Given the description of an element on the screen output the (x, y) to click on. 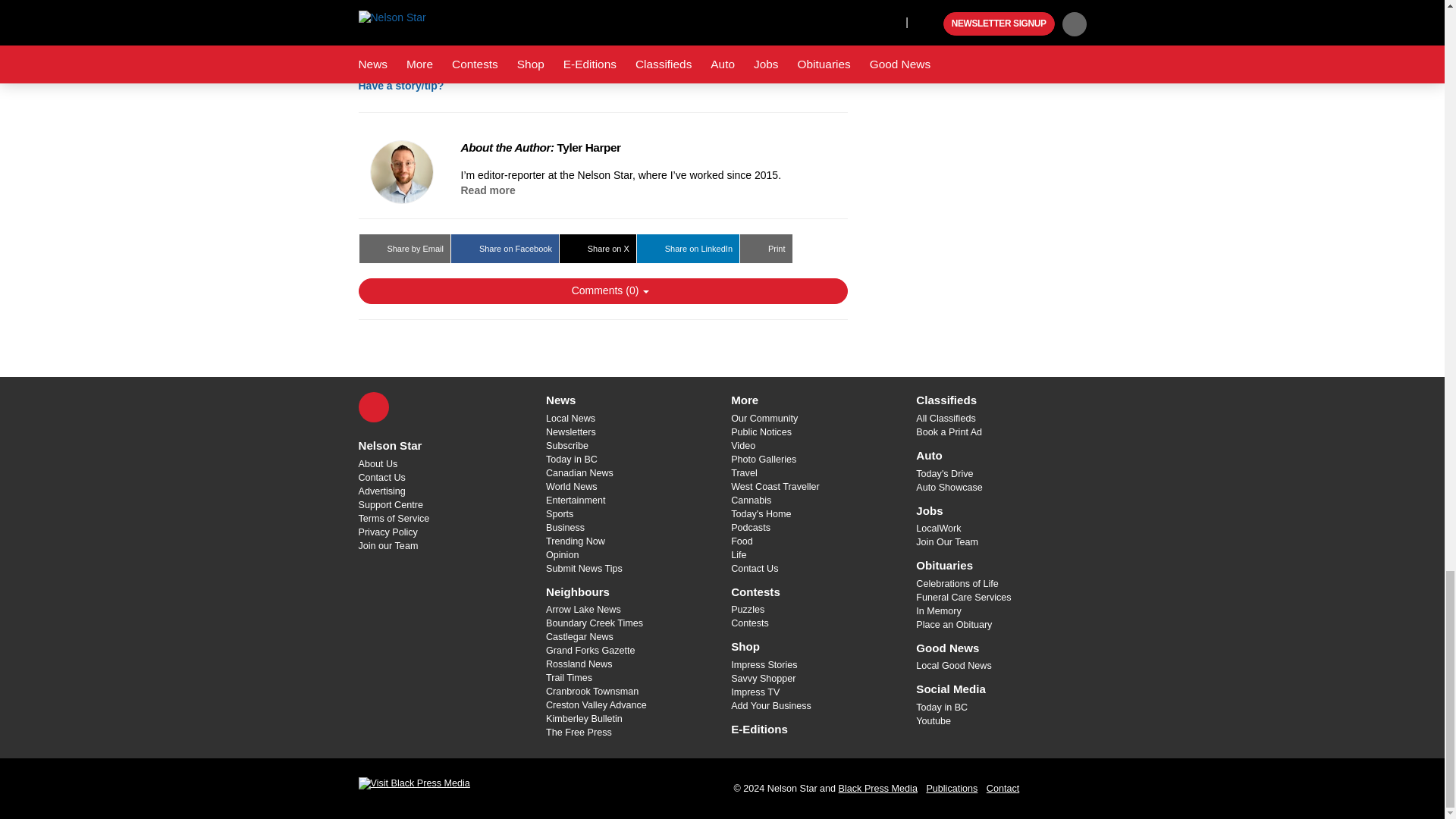
X (373, 407)
Show Comments (602, 290)
Nelson Curling Club Business Case Document (602, 19)
